Given the description of an element on the screen output the (x, y) to click on. 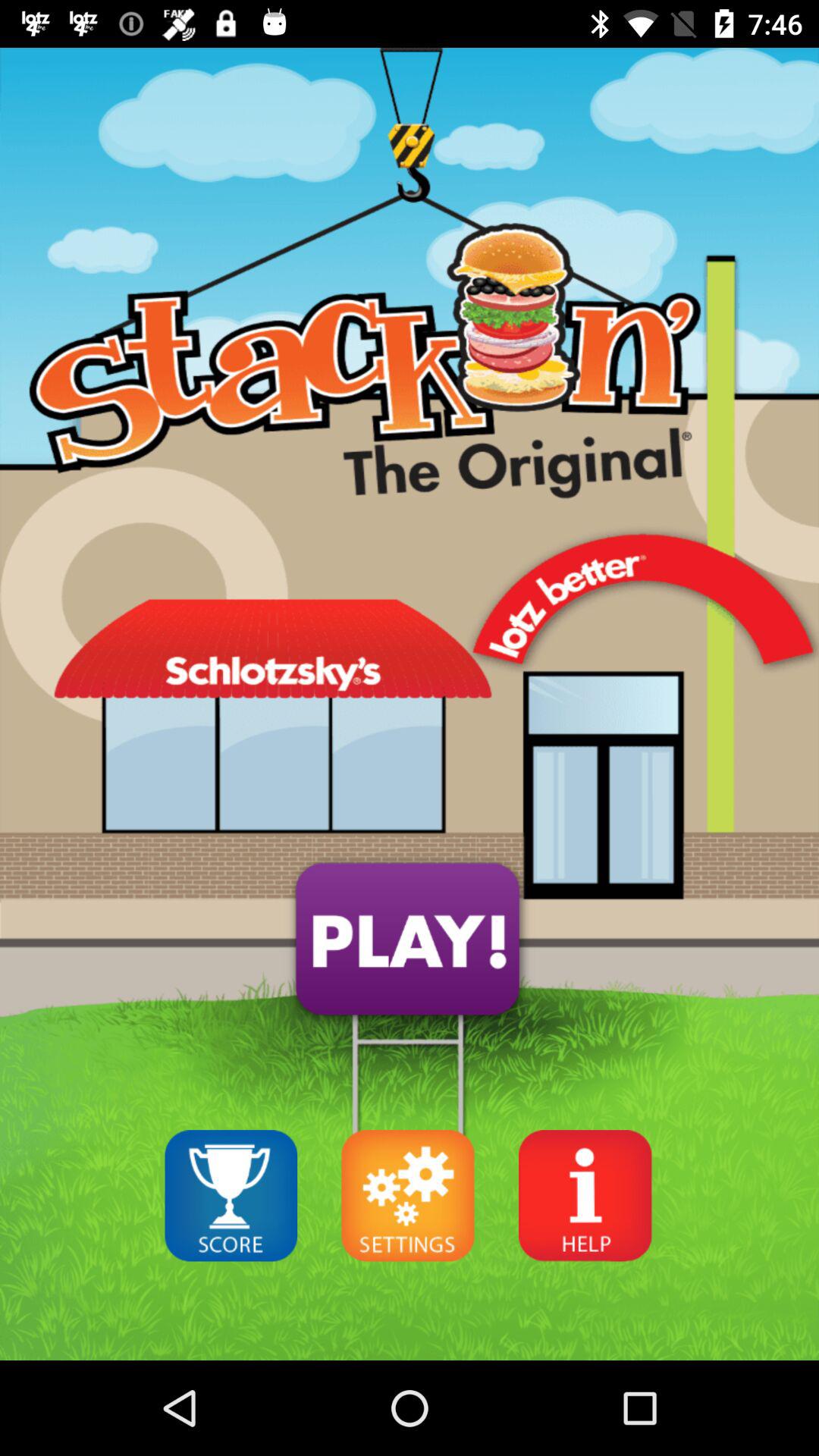
settings option (407, 1195)
